Given the description of an element on the screen output the (x, y) to click on. 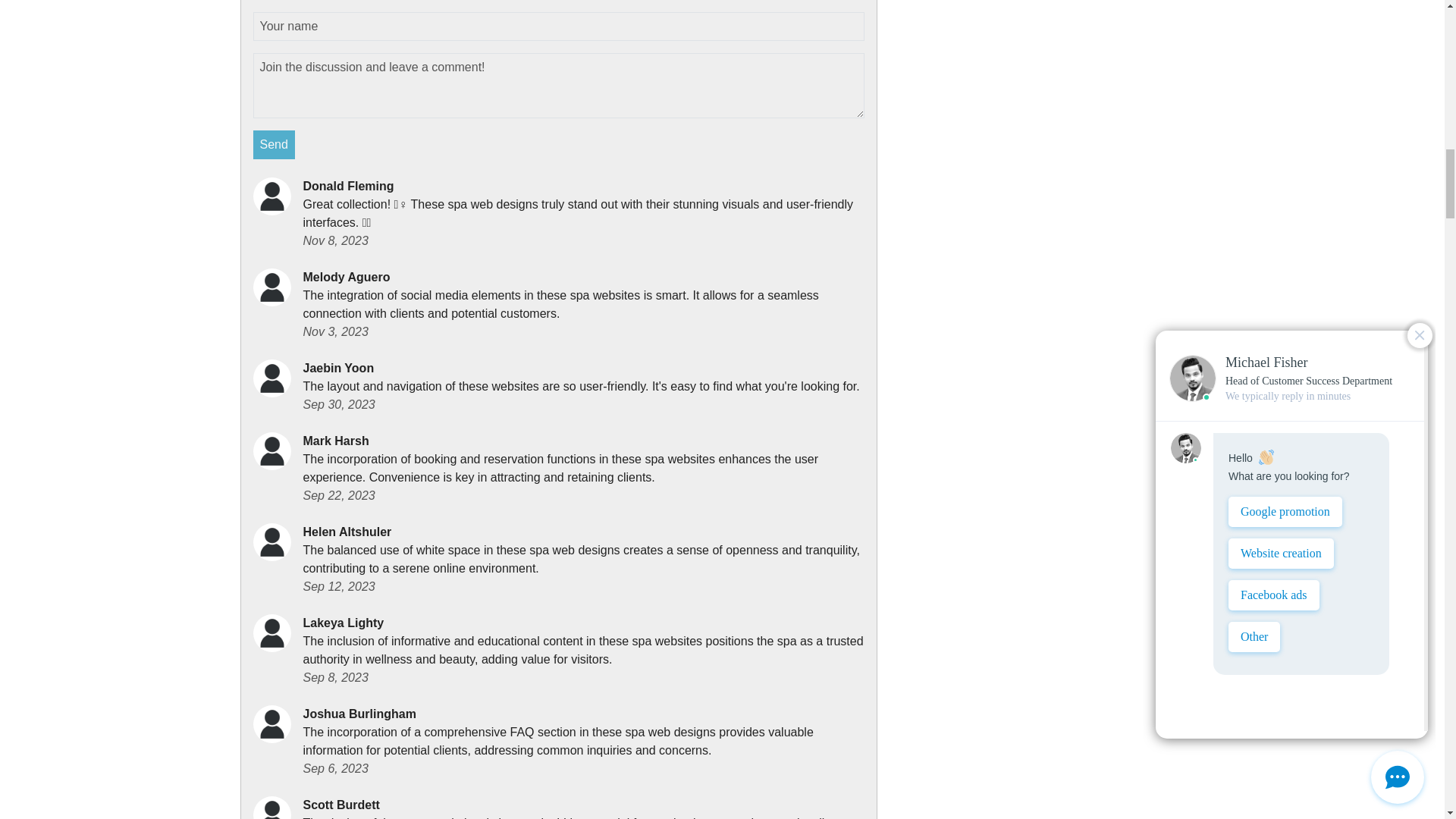
Send (274, 144)
Send (274, 144)
